Given the description of an element on the screen output the (x, y) to click on. 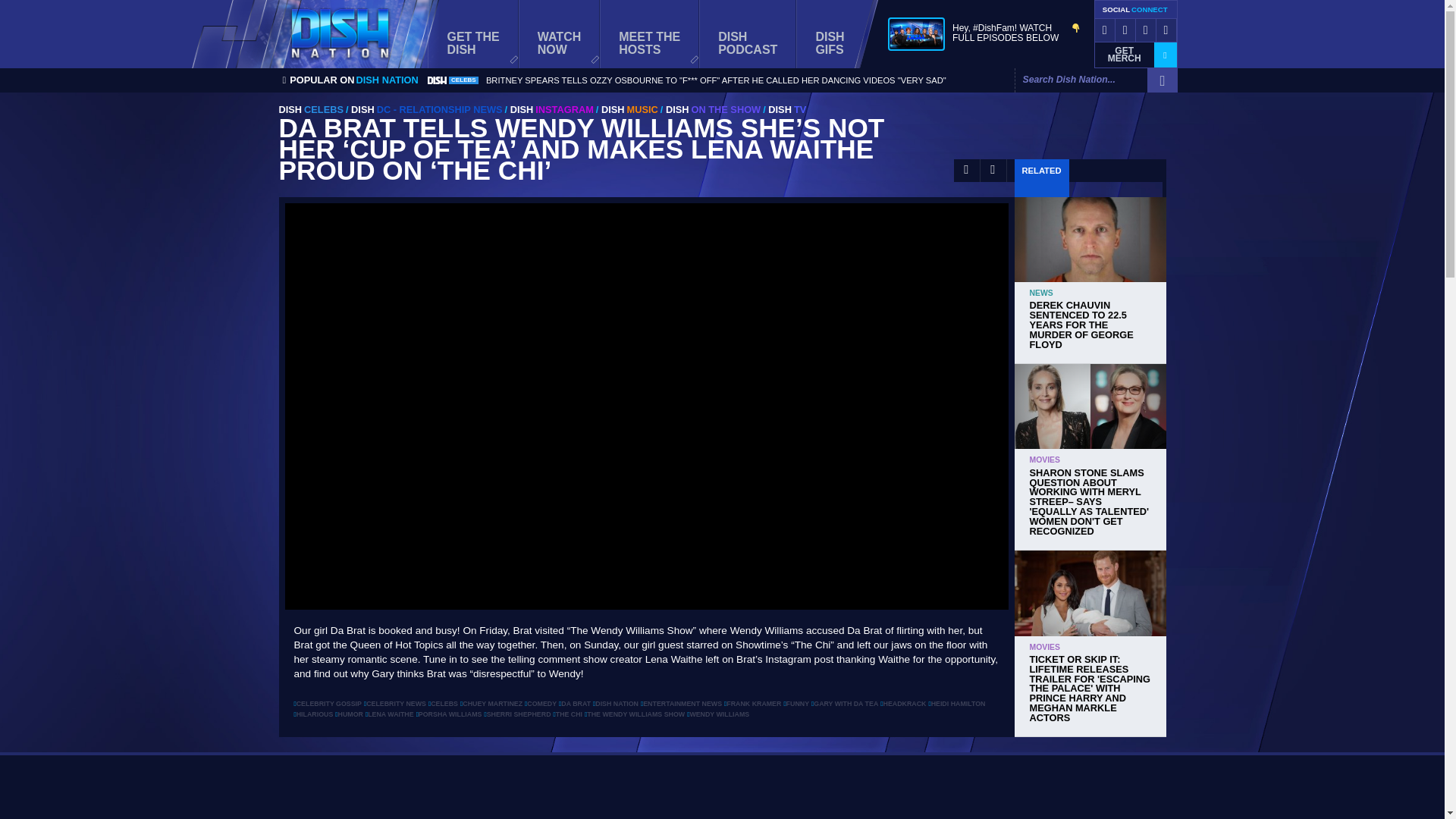
Advertisement (473, 33)
GET MERCH (722, 790)
